Given the description of an element on the screen output the (x, y) to click on. 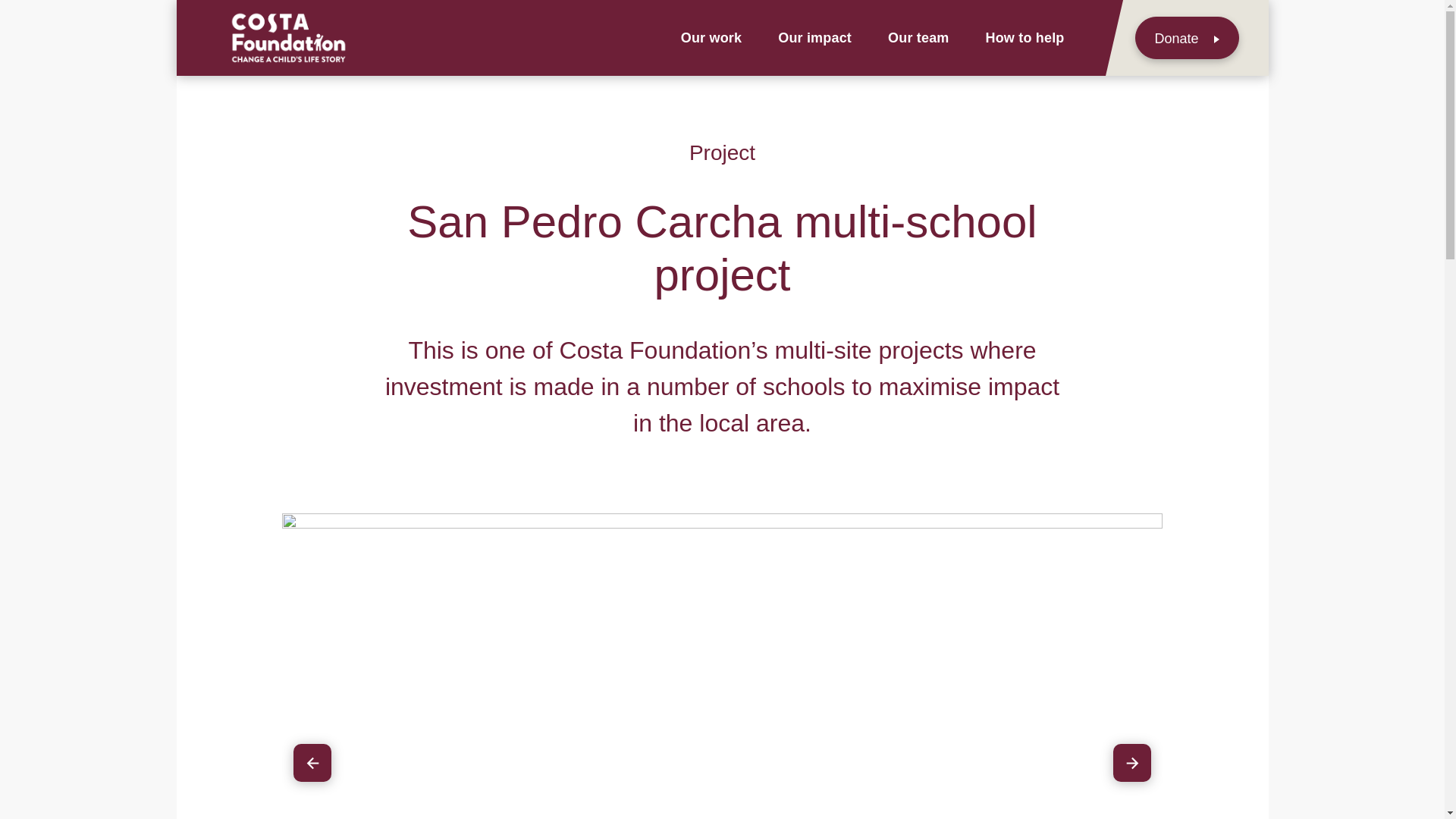
Donate (1186, 37)
Our team (918, 37)
Our impact (814, 37)
How to help (1024, 37)
Our work (711, 37)
Costa Foundations (287, 37)
